Given the description of an element on the screen output the (x, y) to click on. 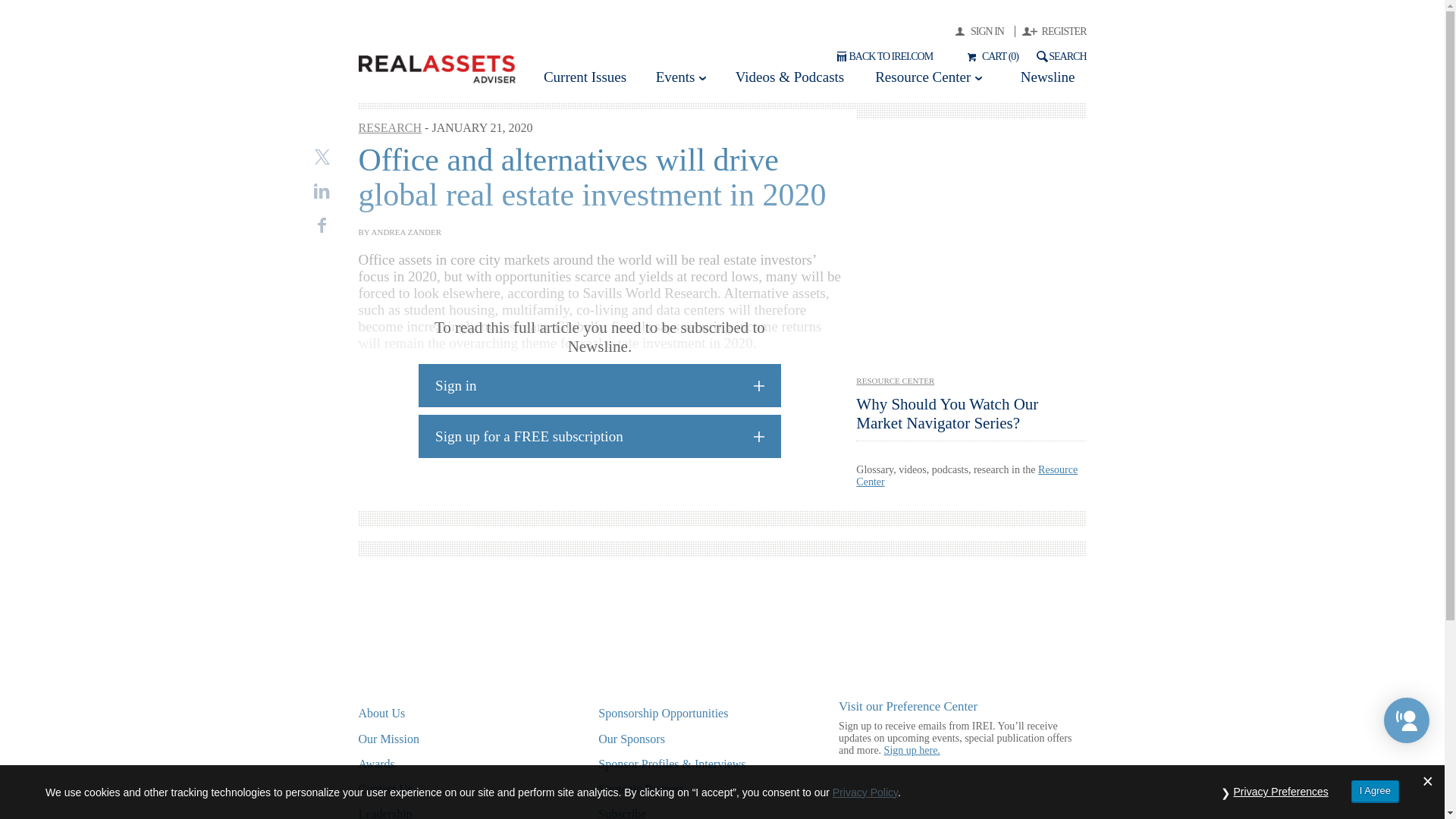
Privacy Policy (865, 791)
Twitter (321, 156)
SIGN IN (984, 30)
LinkedIn (321, 191)
REGISTER (1054, 30)
View your shopping cart (989, 56)
